Given the description of an element on the screen output the (x, y) to click on. 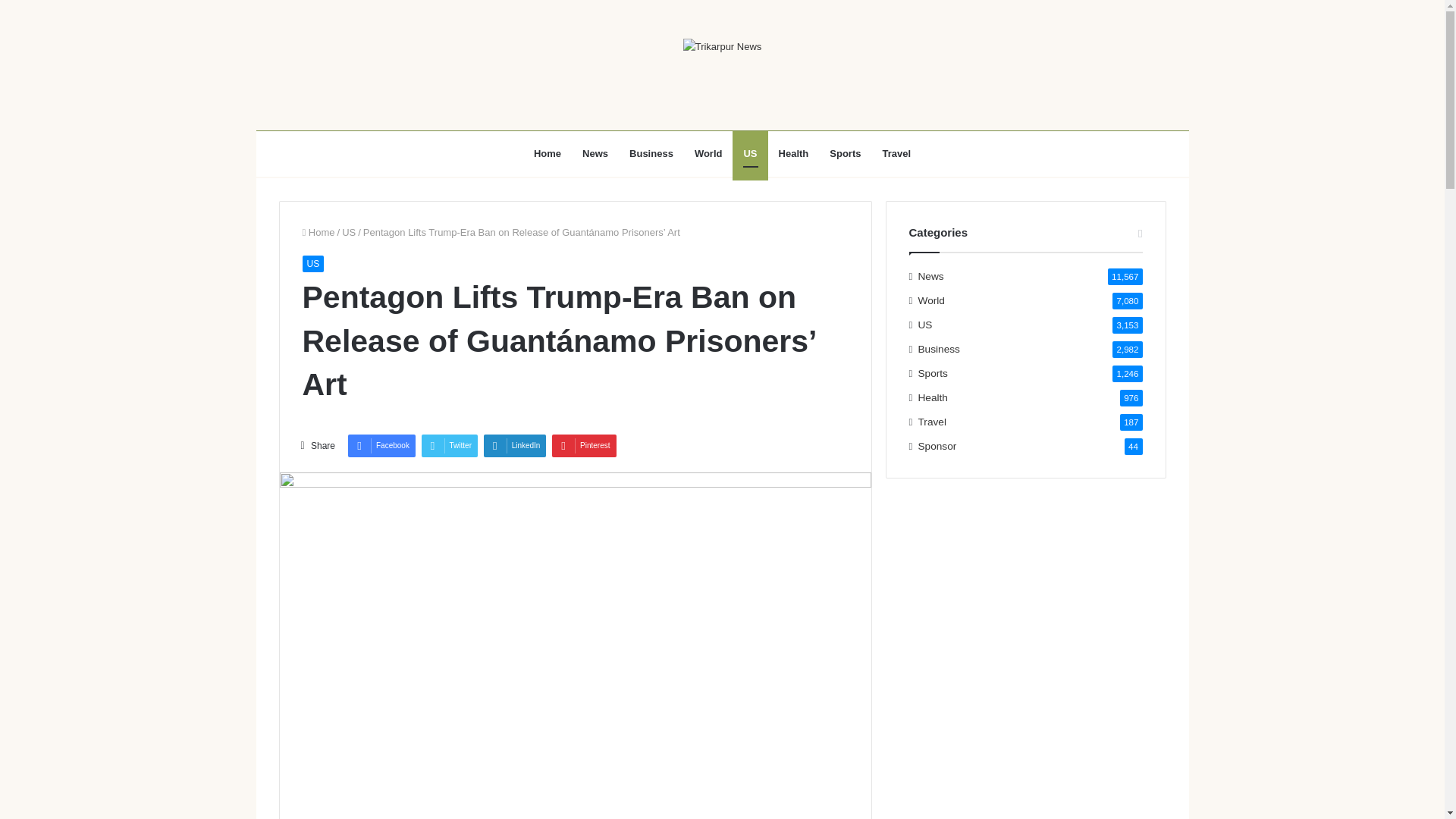
News (930, 276)
Twitter (449, 445)
Home (547, 153)
US (348, 232)
Travel (895, 153)
LinkedIn (515, 445)
Twitter (449, 445)
News (595, 153)
Trikarpur News (721, 45)
Facebook (380, 445)
Pinterest (583, 445)
LinkedIn (515, 445)
Health (793, 153)
World (708, 153)
US (312, 263)
